Given the description of an element on the screen output the (x, y) to click on. 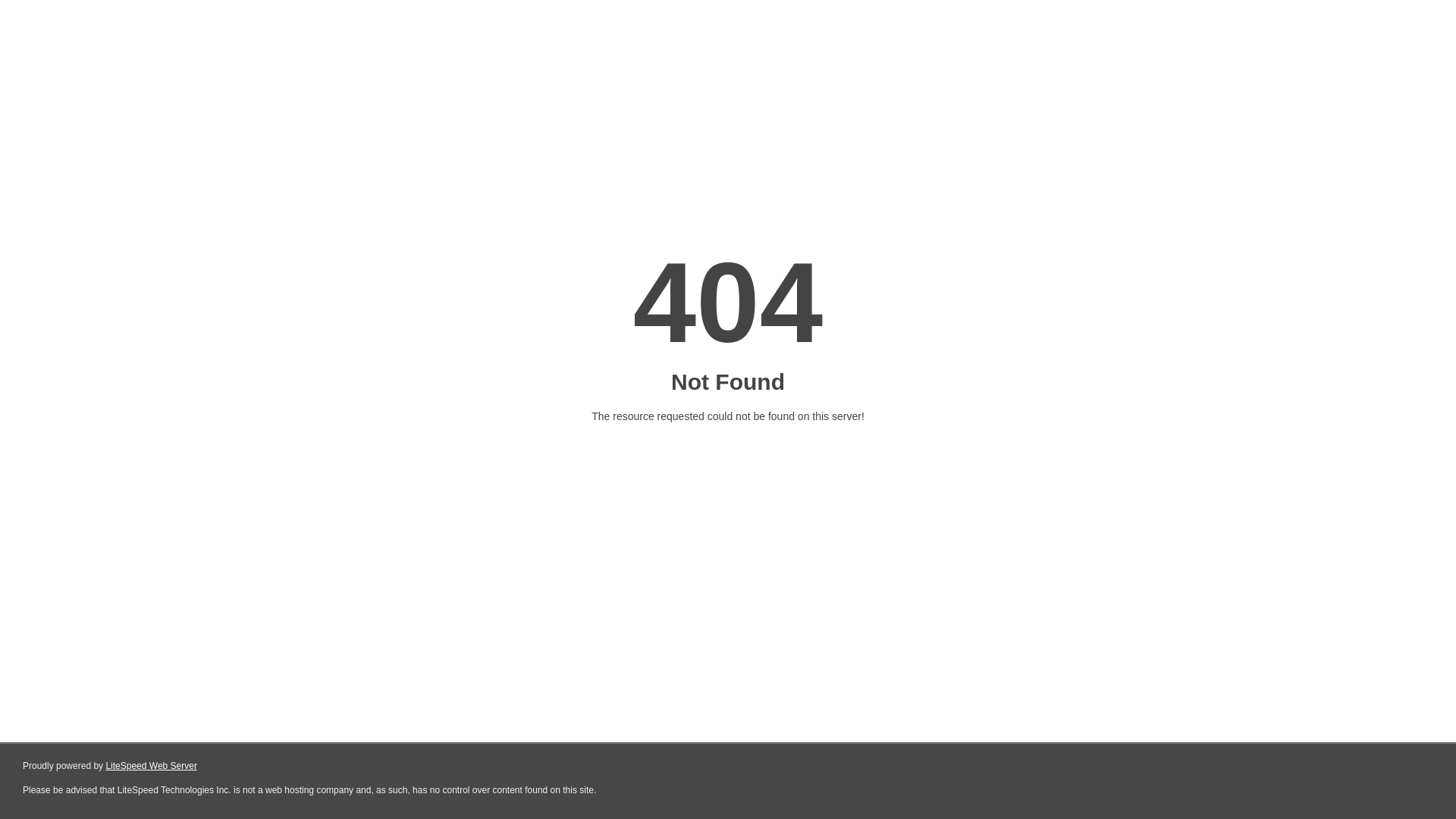
LiteSpeed Web Server Element type: text (151, 765)
